Given the description of an element on the screen output the (x, y) to click on. 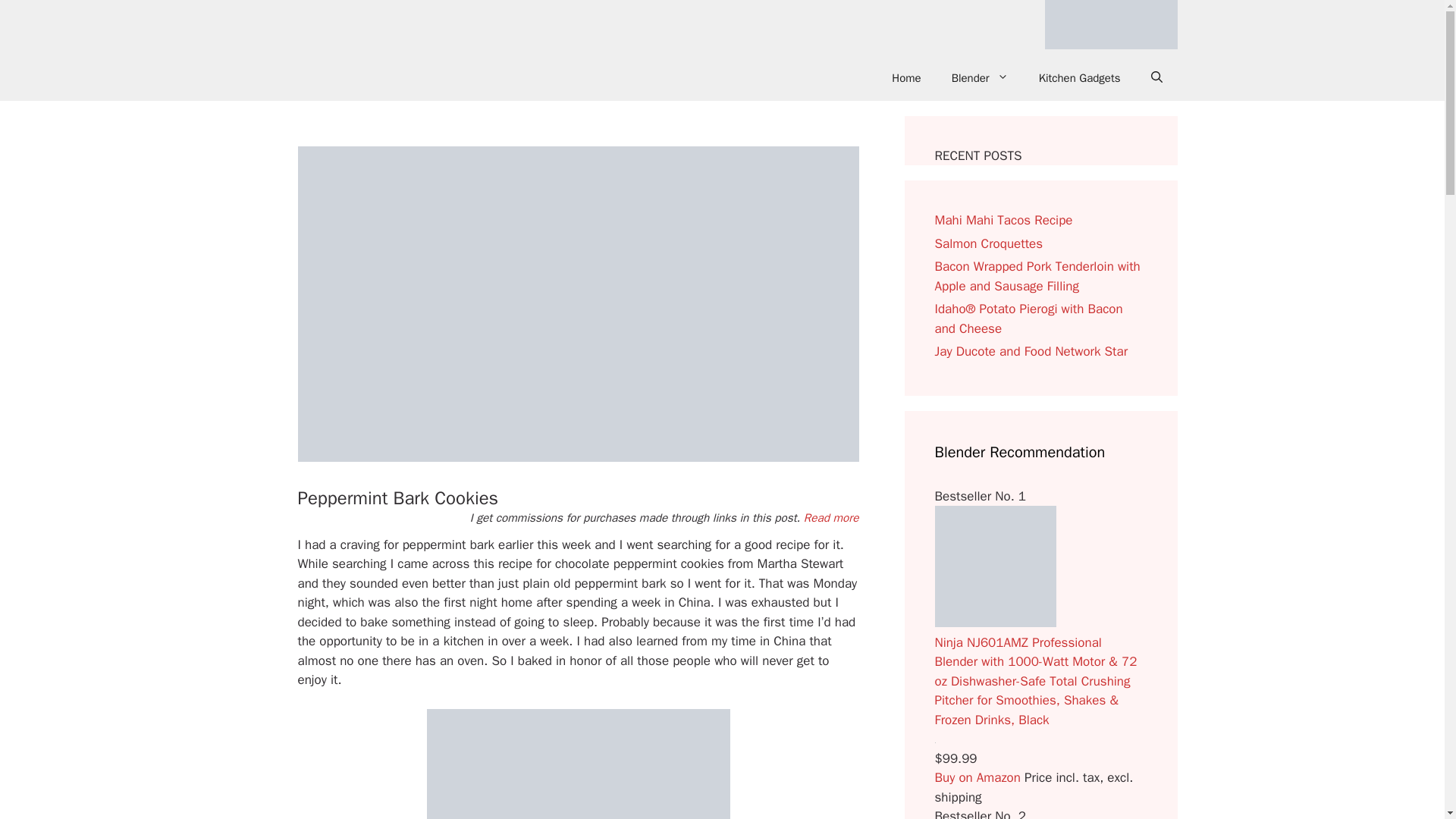
Blender (979, 76)
Buy on Amazon (977, 777)
Playing With Fire And Water (1111, 24)
Home (906, 76)
Kitchen Gadgets (1079, 76)
Read more (831, 517)
Playing With Fire And Water (1111, 27)
